Given the description of an element on the screen output the (x, y) to click on. 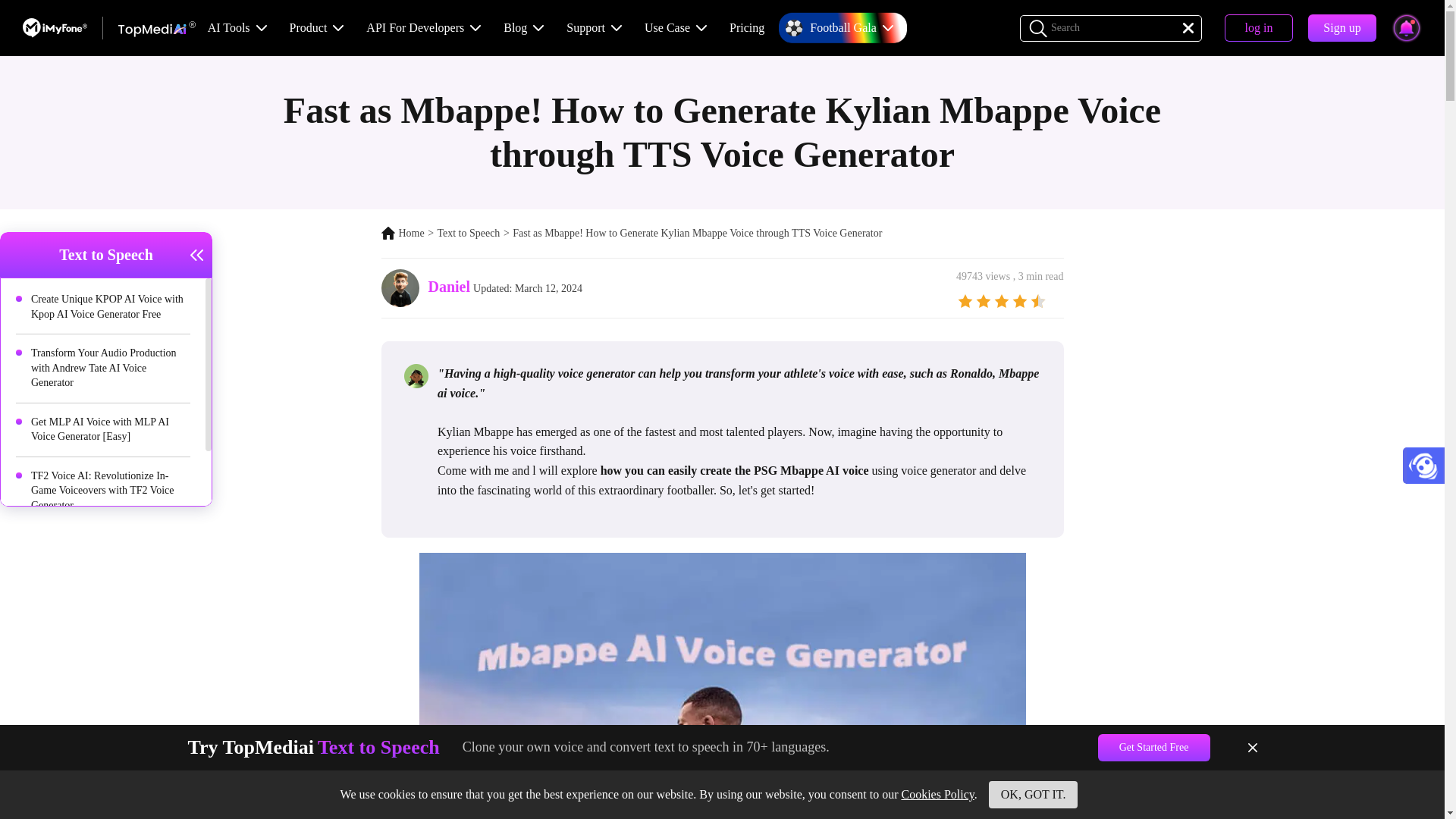
Blog (515, 27)
